Given the description of an element on the screen output the (x, y) to click on. 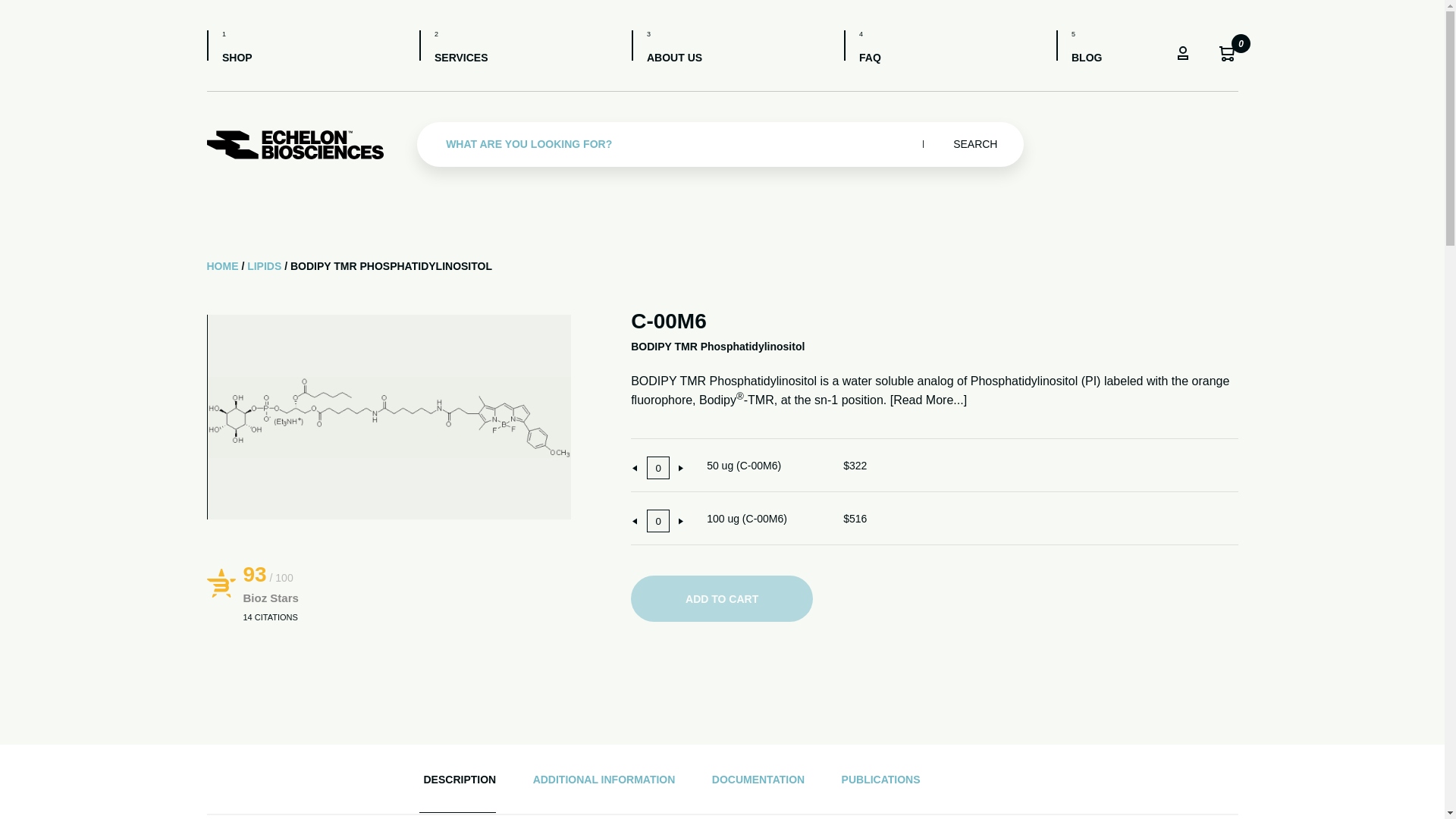
PUBLICATIONS (880, 779)
ADDITIONAL INFORMATION (603, 779)
BLOG (1077, 48)
ABOUT US (665, 48)
FAQ (861, 48)
SERVICES (453, 48)
ADD TO CART (721, 598)
DOCUMENTATION (758, 779)
SHOP (228, 48)
267.gif (388, 416)
DESCRIPTION (459, 779)
HOME (222, 265)
LIPIDS (264, 265)
14 CITATIONS (270, 616)
SEARCH (973, 143)
